Given the description of an element on the screen output the (x, y) to click on. 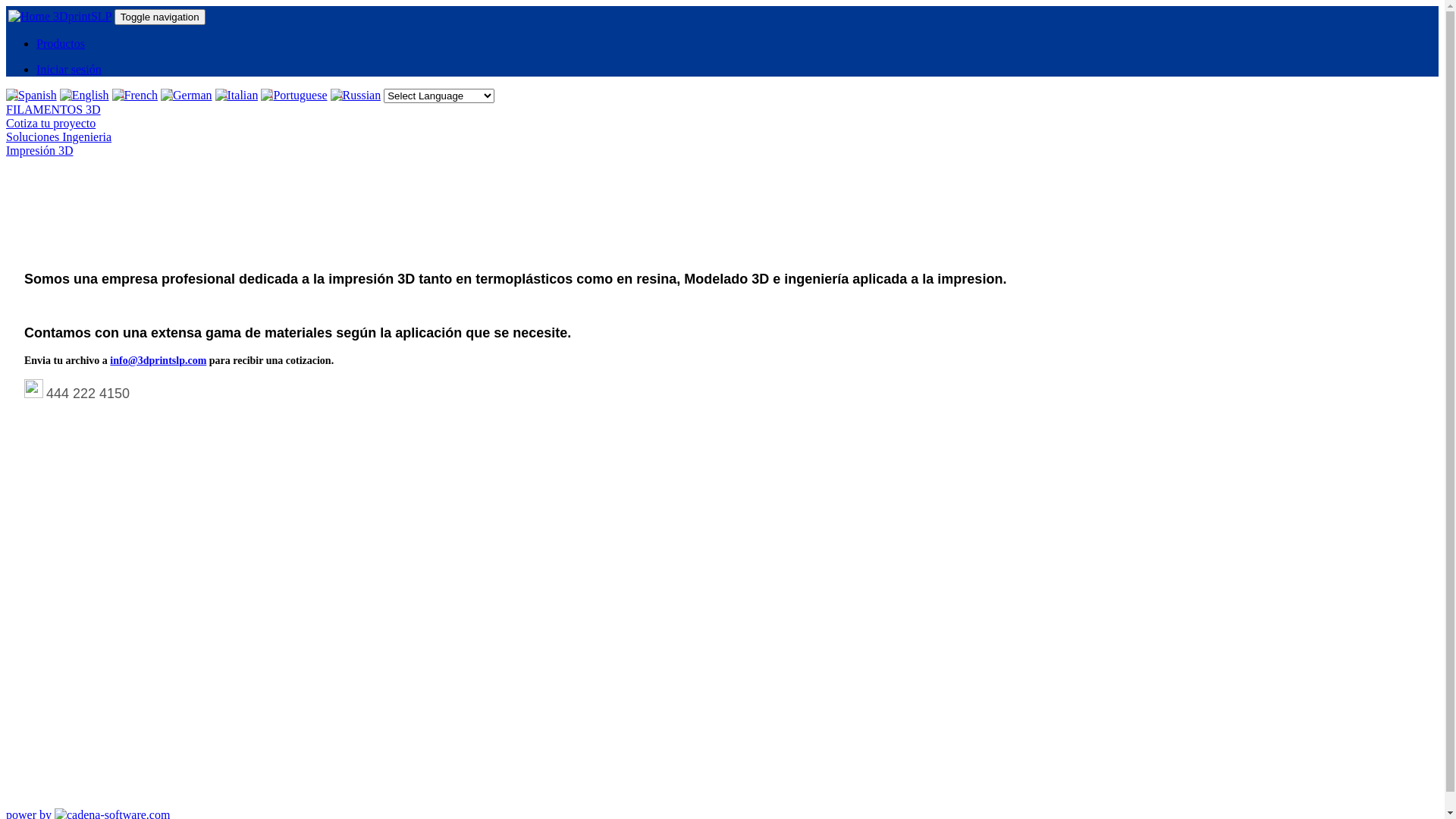
Home Element type: hover (29, 15)
Cotiza tu proyecto Element type: text (50, 122)
German Element type: hover (186, 94)
Skip to main content Element type: text (56, 6)
Russian Element type: hover (355, 94)
3DprintSLP Element type: text (82, 15)
FILAMENTOS 3D Element type: text (53, 109)
info@3dprintslp.com Element type: text (157, 360)
Toggle navigation Element type: text (159, 17)
Portuguese Element type: hover (293, 94)
French Element type: hover (134, 94)
English Element type: hover (84, 94)
Productos Element type: text (60, 43)
Soluciones Ingenieria Element type: text (58, 136)
Spanish Element type: hover (31, 94)
Italian Element type: hover (236, 94)
